Given the description of an element on the screen output the (x, y) to click on. 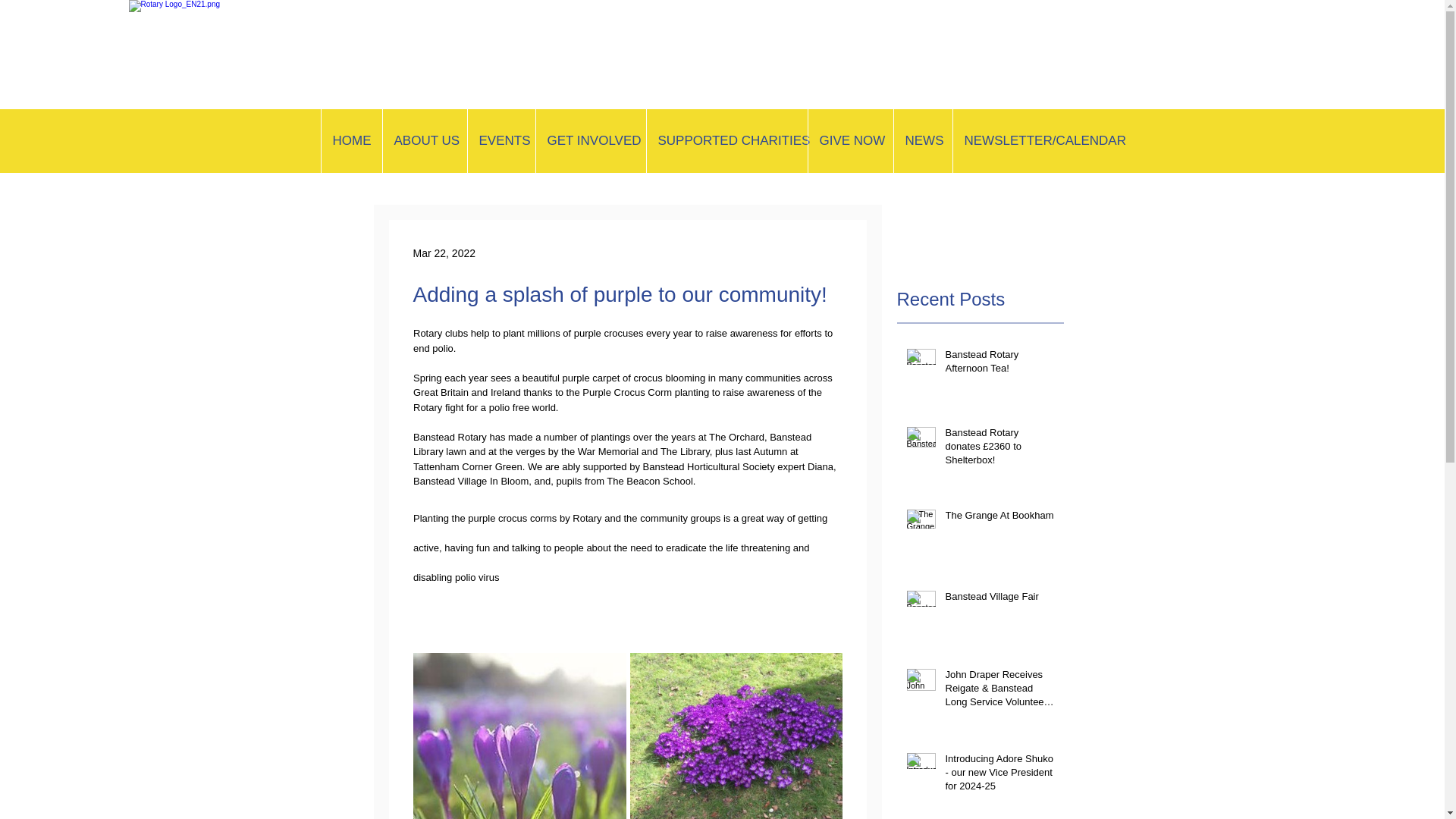
ABOUT US (424, 140)
GIVE NOW (849, 140)
HOME (350, 140)
Banstead Village Fair (999, 599)
Banstead Rotary Afternoon Tea! (999, 364)
SUPPORTED CHARITIES (727, 140)
Introducing Adore Shuko - our new Vice President for 2024-25 (999, 776)
Mar 22, 2022 (444, 253)
GET INVOLVED (590, 140)
The Grange At Bookham (999, 518)
